Given the description of an element on the screen output the (x, y) to click on. 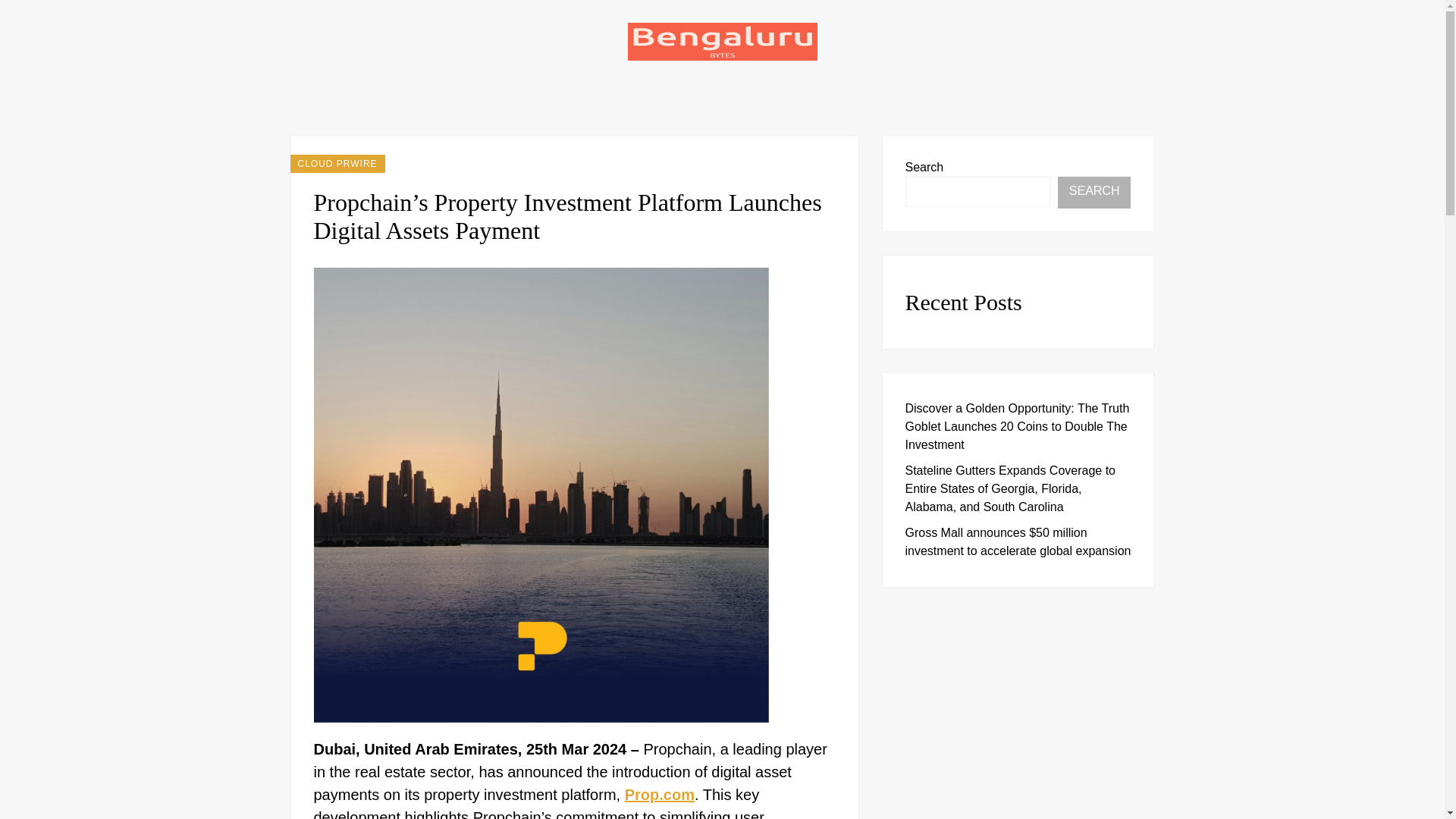
CLOUD PRWIRE (336, 163)
Prop.com (659, 794)
